Given the description of an element on the screen output the (x, y) to click on. 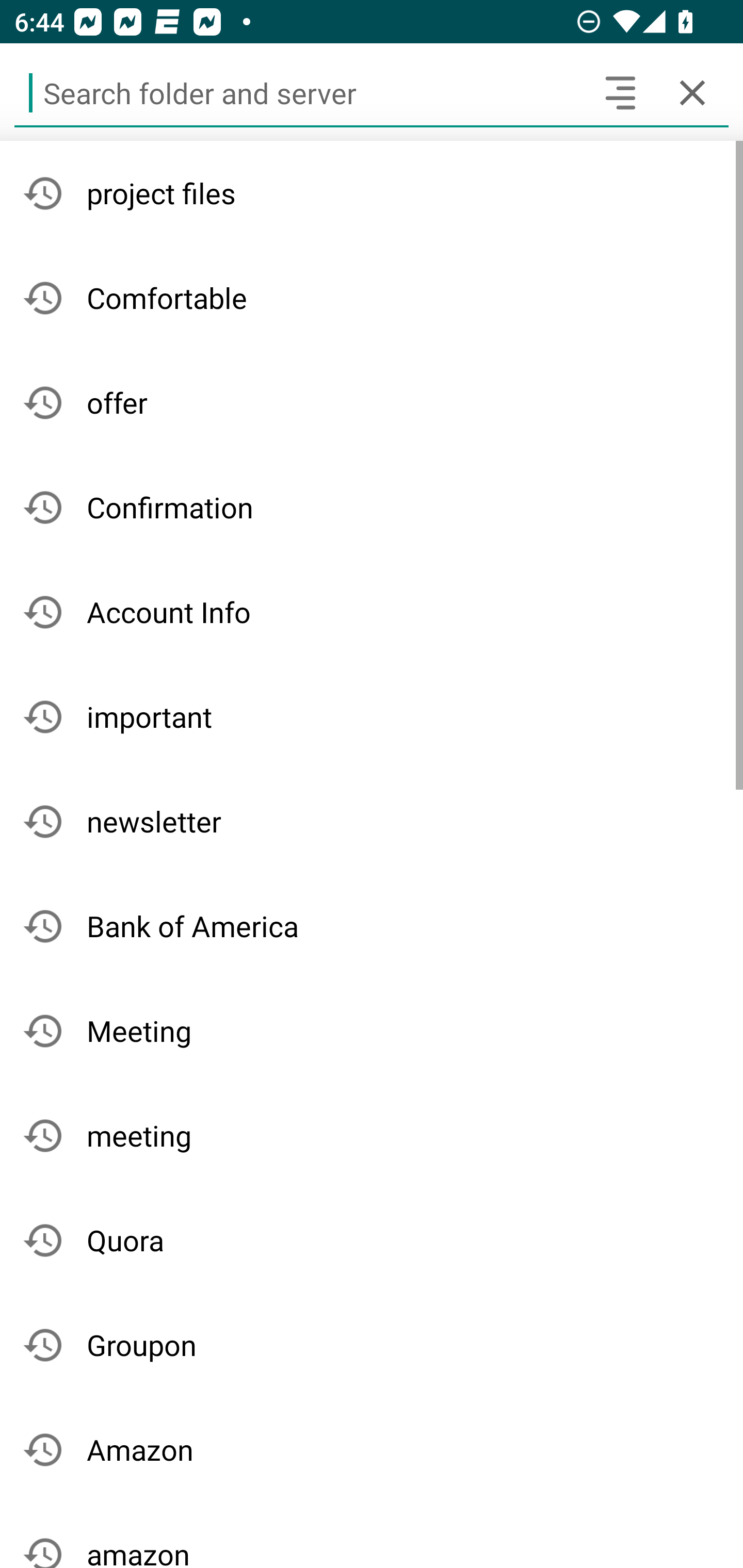
   Search folder and server (298, 92)
Search headers and text (619, 92)
Cancel (692, 92)
